Given the description of an element on the screen output the (x, y) to click on. 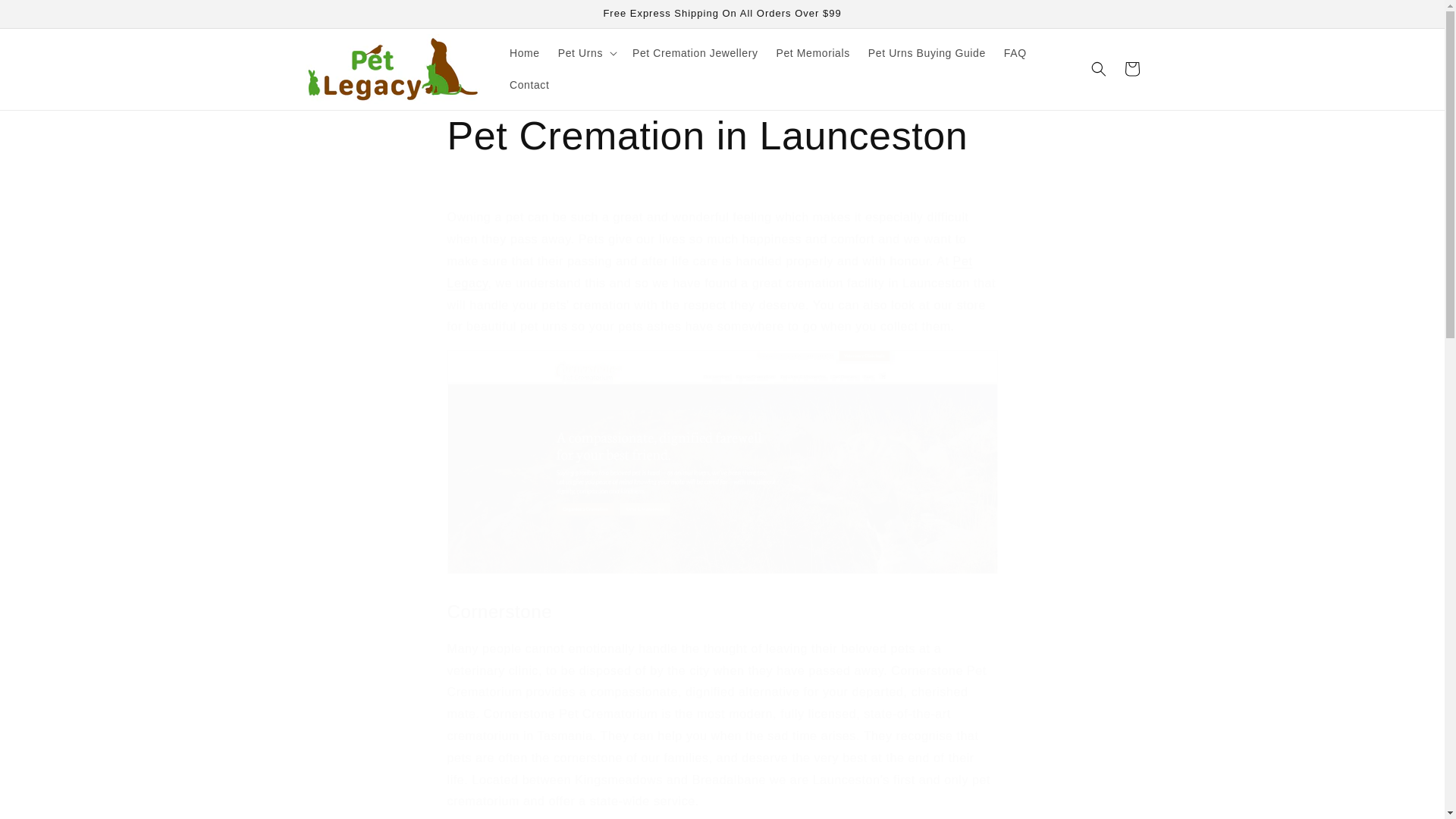
Pet Urns Buying Guide (926, 52)
Skip to content (45, 17)
Pet Cremation Jewellery (695, 52)
Pet Memorials (813, 52)
Contact (528, 84)
FAQ (1014, 52)
Pet Cremation in Launceston (721, 136)
Home (524, 52)
